Given the description of an element on the screen output the (x, y) to click on. 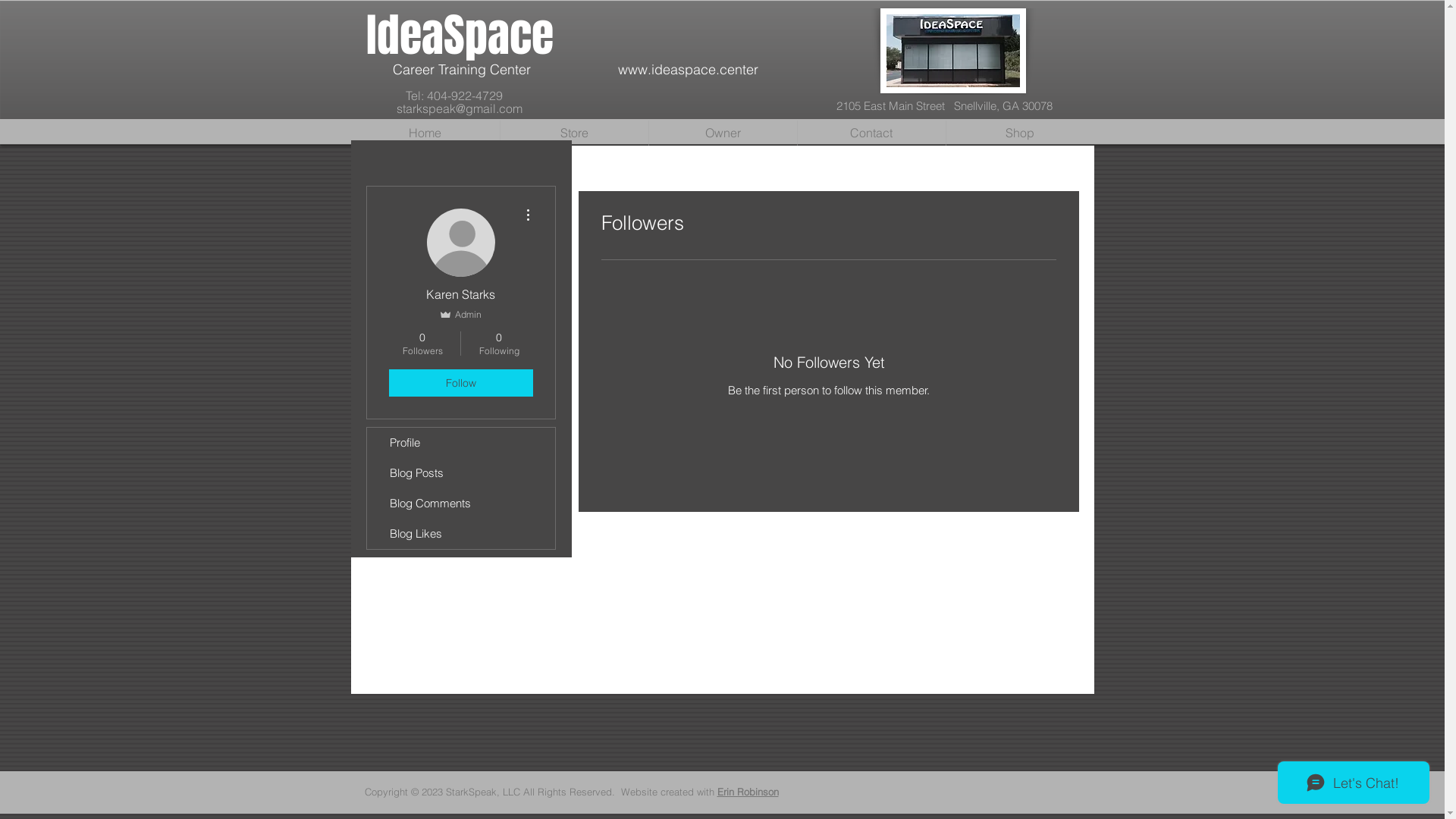
Profile Element type: text (461, 442)
0
Followers Element type: text (421, 343)
Blog Posts Element type: text (461, 473)
Erin Robinson Element type: text (747, 791)
Blog Likes Element type: text (461, 533)
Owner Element type: text (723, 132)
unnamed-1.jpg Element type: hover (952, 50)
Home Element type: text (424, 132)
Followers Element type: hover (827, 442)
Contact Element type: text (871, 132)
Shop Element type: text (1020, 132)
IdeaSpace Element type: text (458, 35)
Store Element type: text (574, 132)
Blog Comments Element type: text (461, 503)
Follow Element type: text (460, 382)
0
Following Element type: text (499, 343)
starkspeak@gmail.com Element type: text (458, 108)
